Given the description of an element on the screen output the (x, y) to click on. 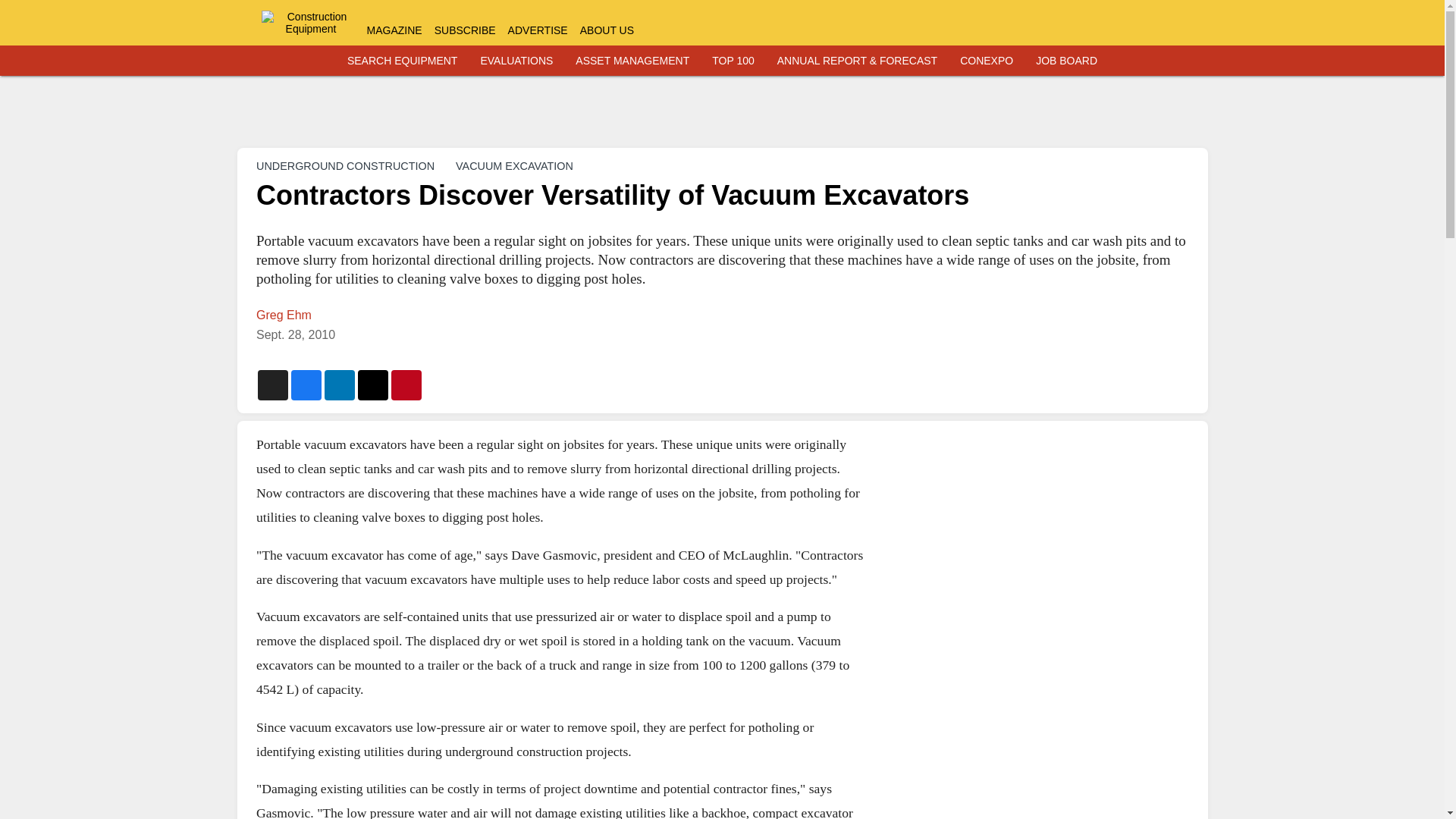
MAGAZINE (394, 30)
UNDERGROUND CONSTRUCTION (344, 165)
SUBSCRIBE (464, 30)
SEARCH EQUIPMENT (402, 60)
CONEXPO (986, 60)
ADVERTISE (537, 30)
ASSET MANAGEMENT (631, 60)
EVALUATIONS (516, 60)
VACUUM EXCAVATION (514, 165)
ABOUT US (606, 30)
Greg Ehm (283, 314)
JOB BOARD (1066, 60)
TOP 100 (732, 60)
